Given the description of an element on the screen output the (x, y) to click on. 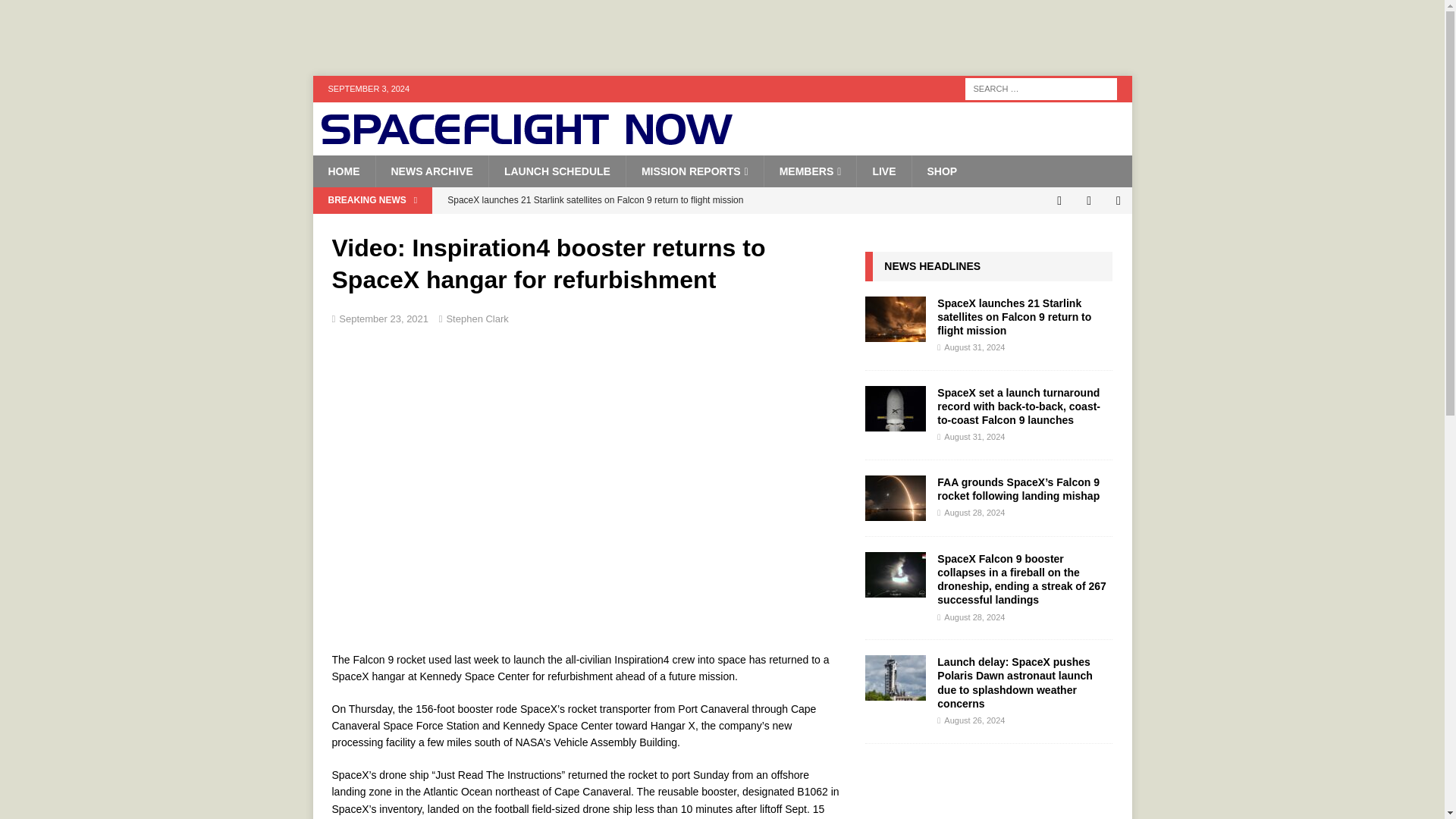
LAUNCH SCHEDULE (556, 171)
Search (56, 11)
MISSION REPORTS (694, 171)
